Given the description of an element on the screen output the (x, y) to click on. 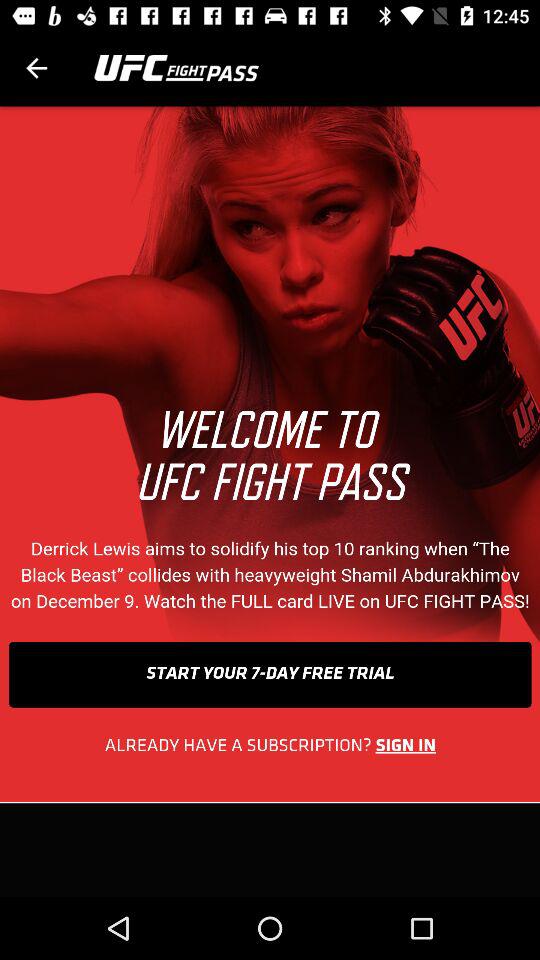
advertisement image (270, 501)
